Given the description of an element on the screen output the (x, y) to click on. 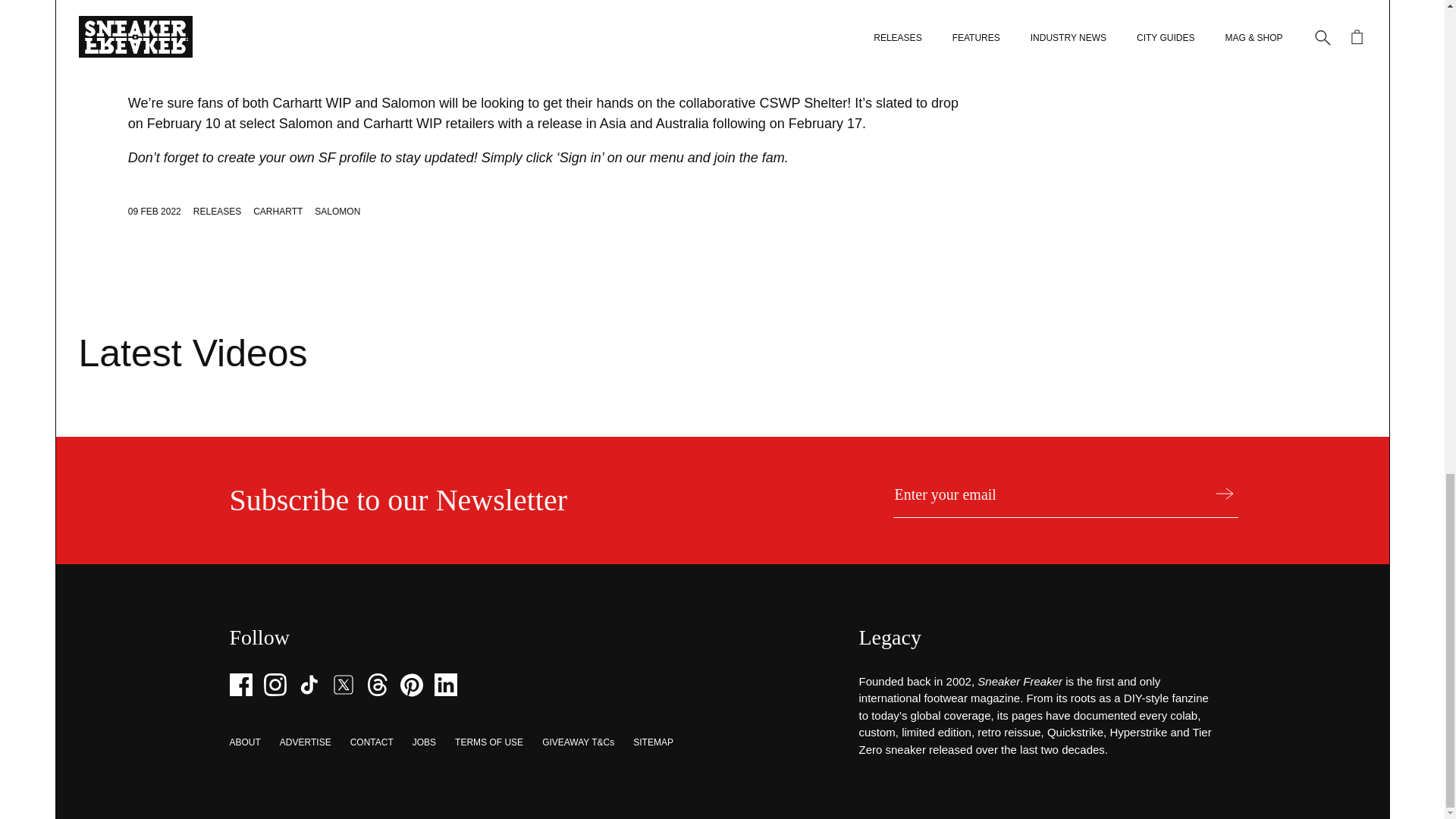
CARHARTT (277, 211)
JOBS (423, 742)
ABOUT (244, 742)
ADVERTISE (305, 742)
SALOMON (336, 211)
CONTACT (371, 742)
SITEMAP (652, 742)
RELEASES (217, 211)
TERMS OF USE (488, 742)
